Given the description of an element on the screen output the (x, y) to click on. 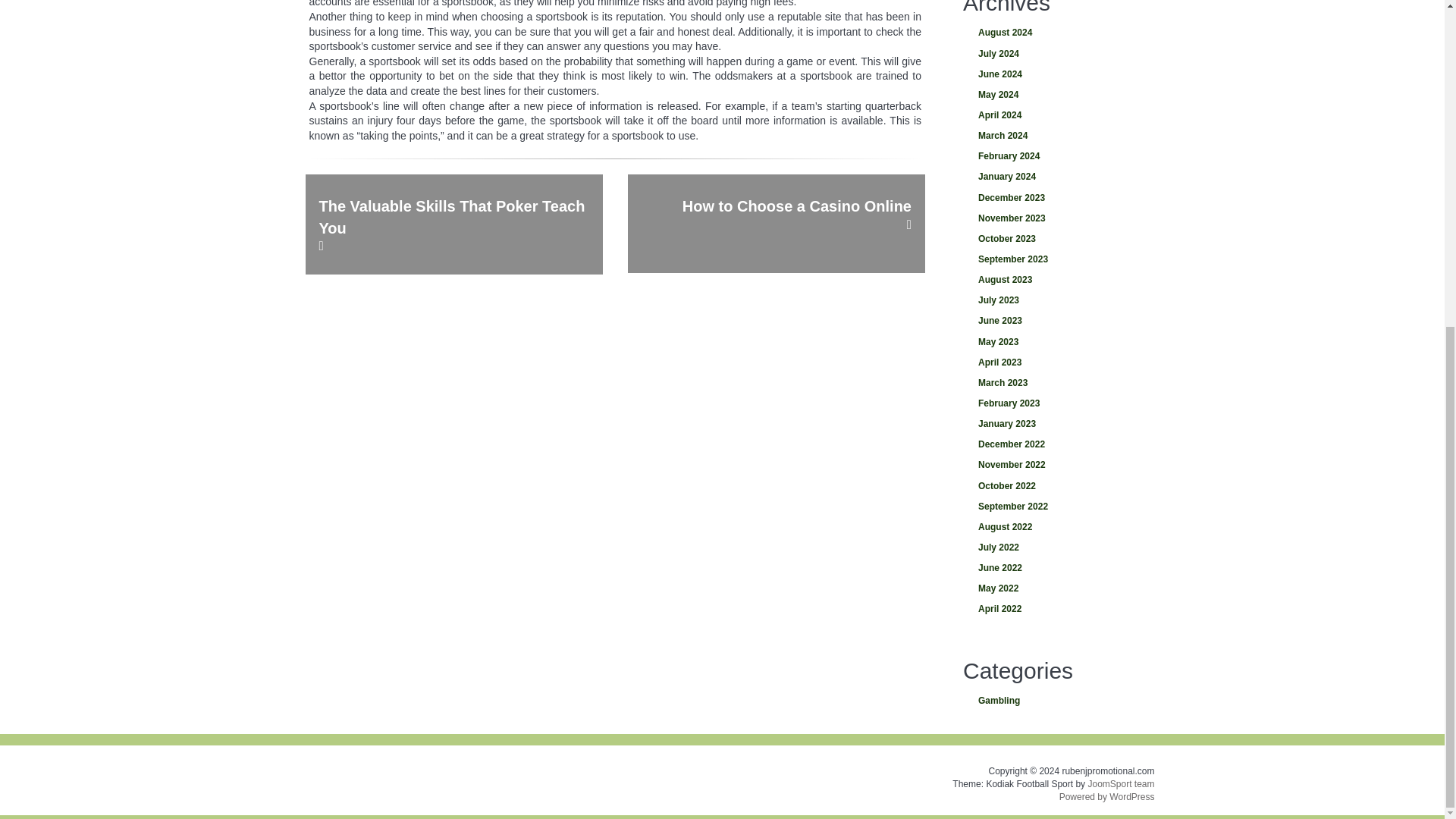
April 2024 (1054, 115)
June 2024 (1054, 74)
May 2024 (1054, 95)
August 2023 (1054, 280)
August 2024 (1054, 32)
March 2024 (1054, 136)
September 2023 (1054, 259)
May 2023 (1054, 342)
The Valuable Skills That Poker Teach You (453, 224)
October 2022 (1054, 485)
